Given the description of an element on the screen output the (x, y) to click on. 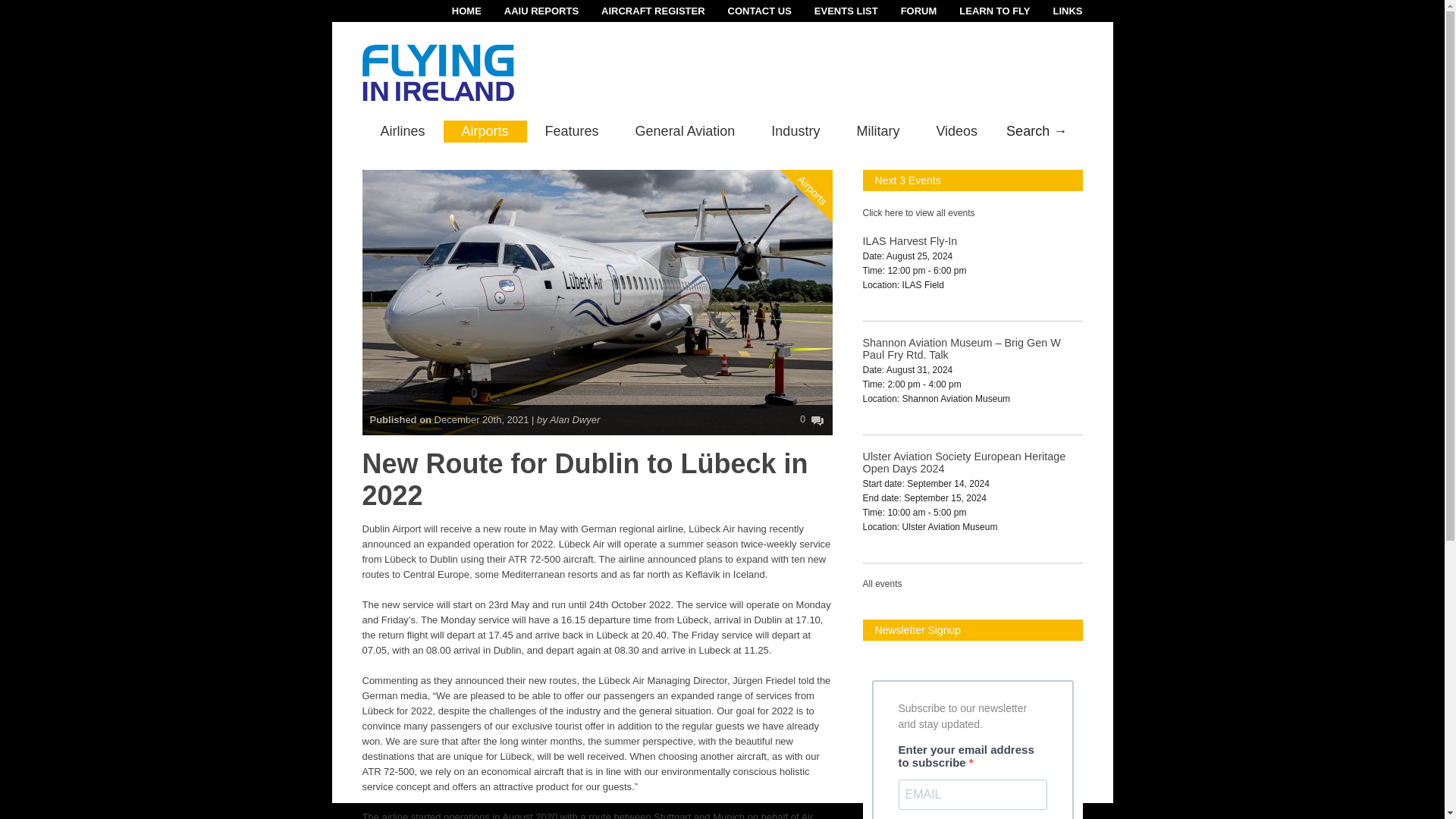
Features (572, 131)
LEARN TO FLY (982, 10)
All events (882, 583)
General Aviation (685, 131)
Airlines (403, 131)
Airports (485, 131)
HOME (455, 10)
Industry (795, 131)
Military (877, 131)
EVENTS LIST (834, 10)
